Given the description of an element on the screen output the (x, y) to click on. 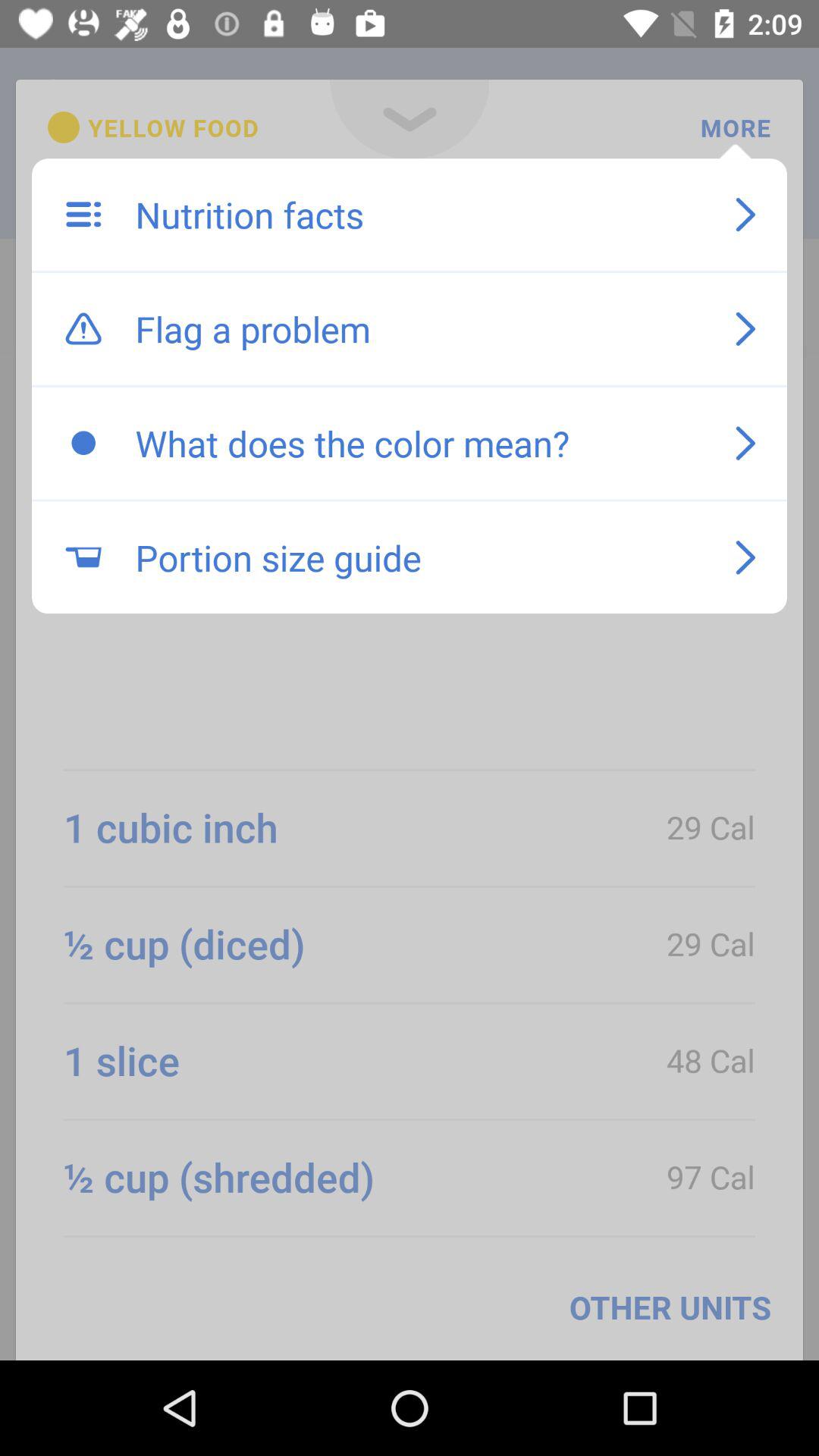
launch item at the center (419, 557)
